Given the description of an element on the screen output the (x, y) to click on. 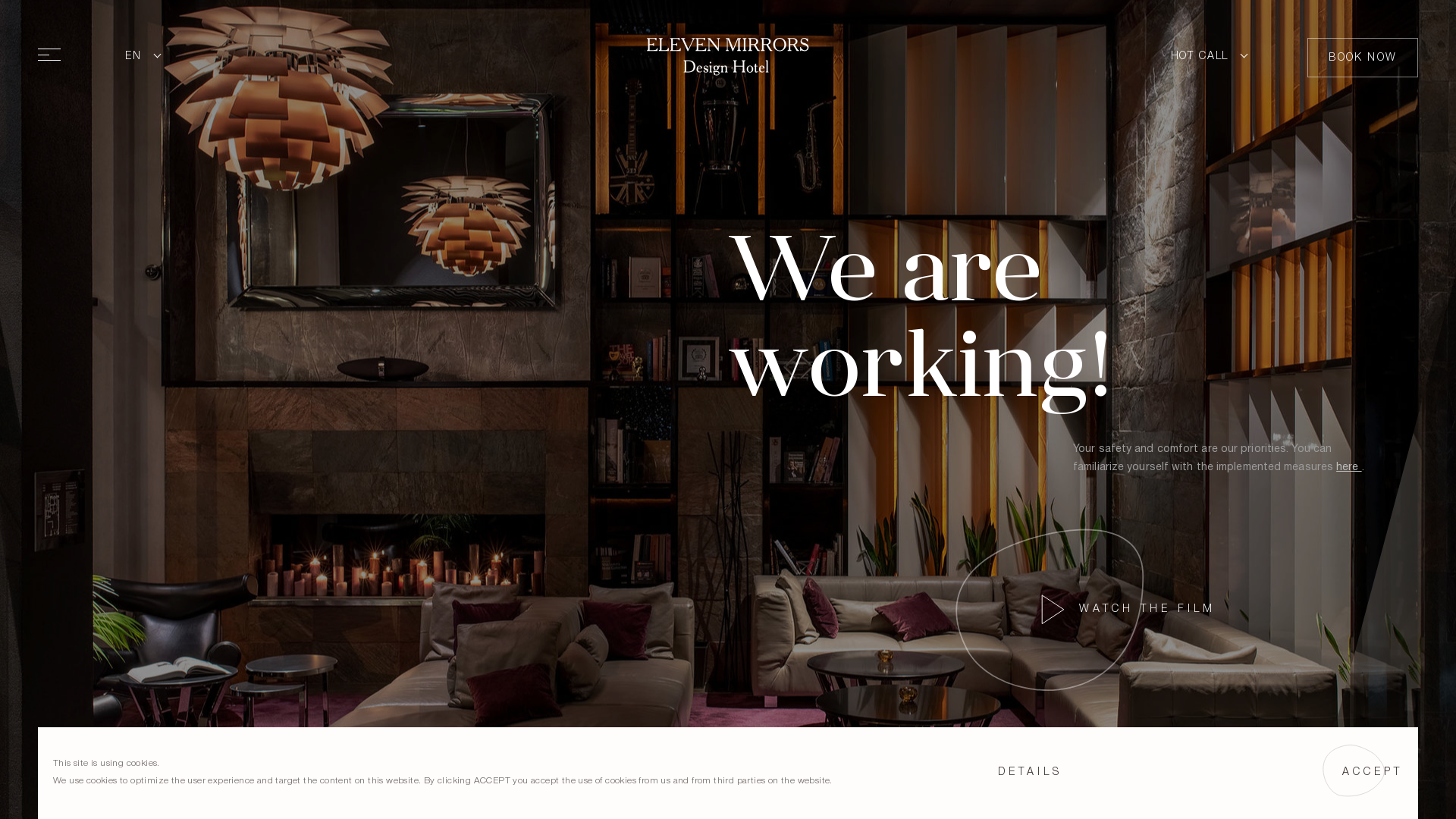
ACCEPT Element type: text (1372, 772)
BOOK NOW Element type: text (1362, 57)
here Element type: text (1348, 467)
WATCH THE FILM Element type: text (1075, 603)
DETAILS Element type: text (1029, 772)
